Given the description of an element on the screen output the (x, y) to click on. 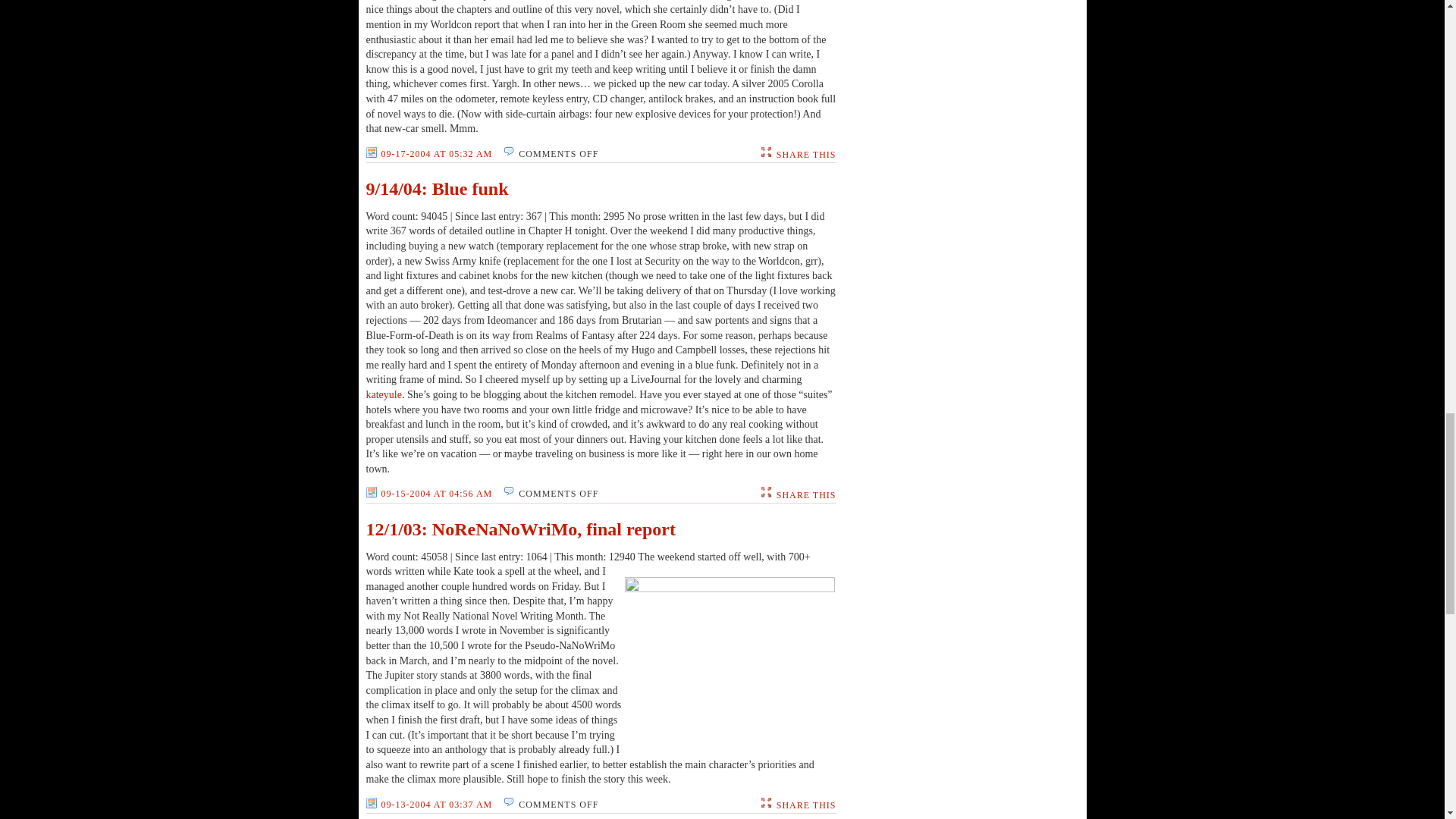
SHARE THIS (805, 804)
09-17-2004 AT 05:32 AM (428, 154)
SHARE THIS (805, 153)
kateyule (383, 394)
09-15-2004 AT 04:56 AM (428, 493)
09-13-2004 AT 03:37 AM (428, 804)
SHARE THIS (805, 494)
